Given the description of an element on the screen output the (x, y) to click on. 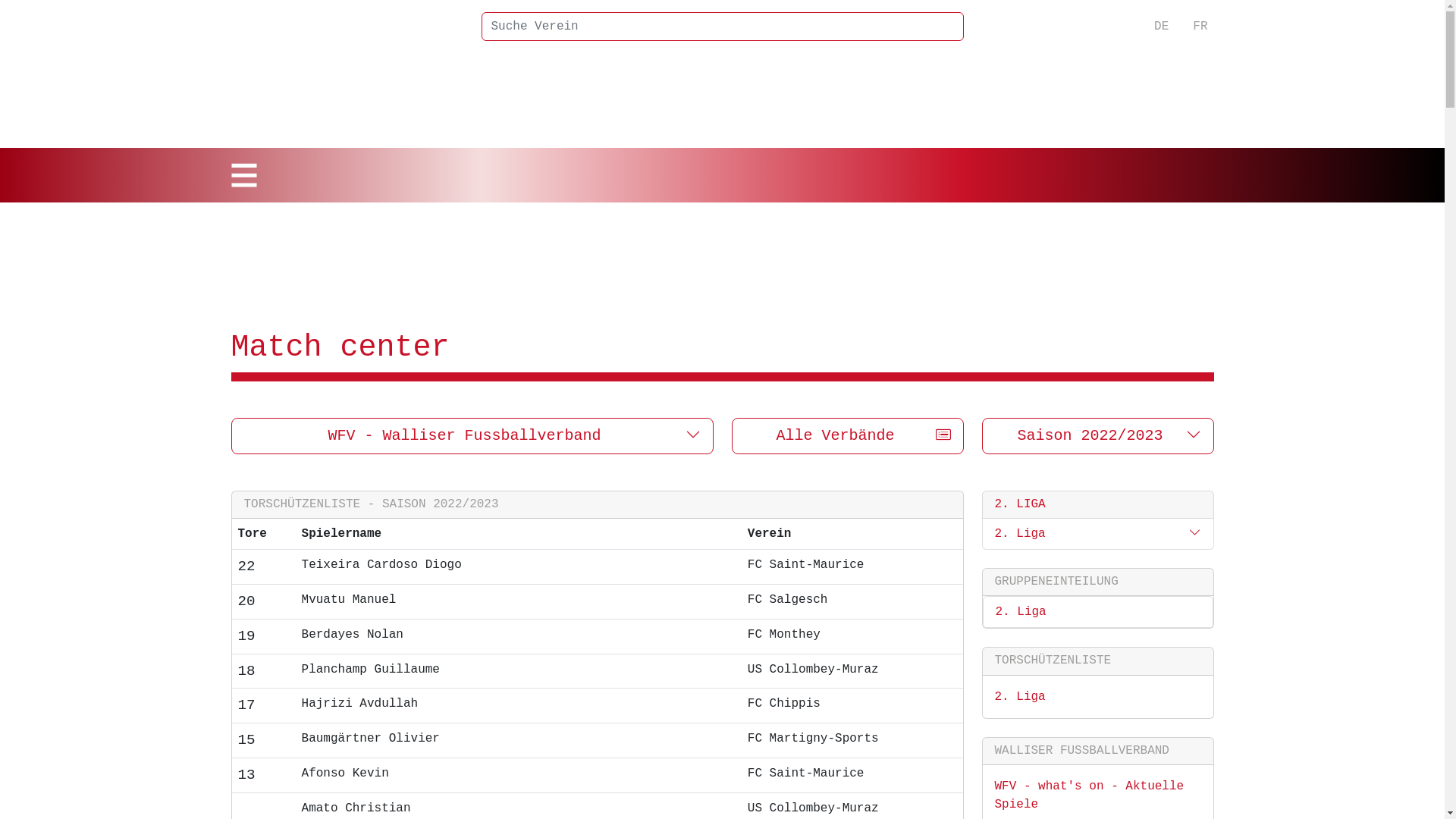
WFV - what's on - Aktuelle Spiele Element type: text (1089, 795)
WFV - Walliser Fussballverband Element type: text (471, 435)
FR Element type: text (1199, 26)
2. Liga Element type: text (1019, 611)
2. LIGA Element type: text (1019, 504)
DE Element type: text (1161, 26)
Saison 2022/2023 Element type: text (1097, 435)
2. Liga Element type: text (1019, 533)
2. Liga Element type: text (1019, 696)
